Given the description of an element on the screen output the (x, y) to click on. 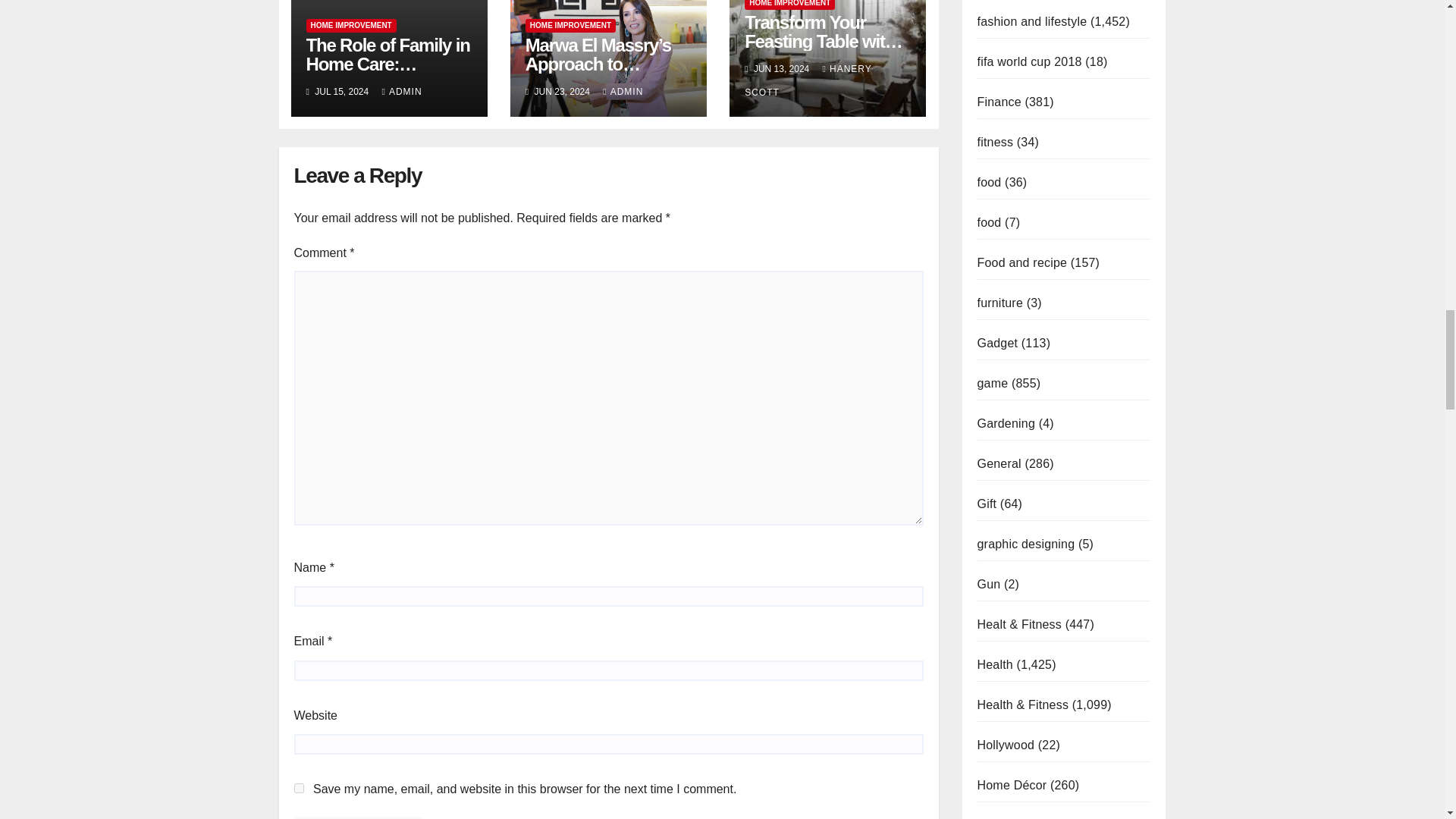
HOME IMPROVEMENT (350, 25)
HOME IMPROVEMENT (570, 25)
ADMIN (622, 91)
yes (299, 787)
ADMIN (401, 91)
